Given the description of an element on the screen output the (x, y) to click on. 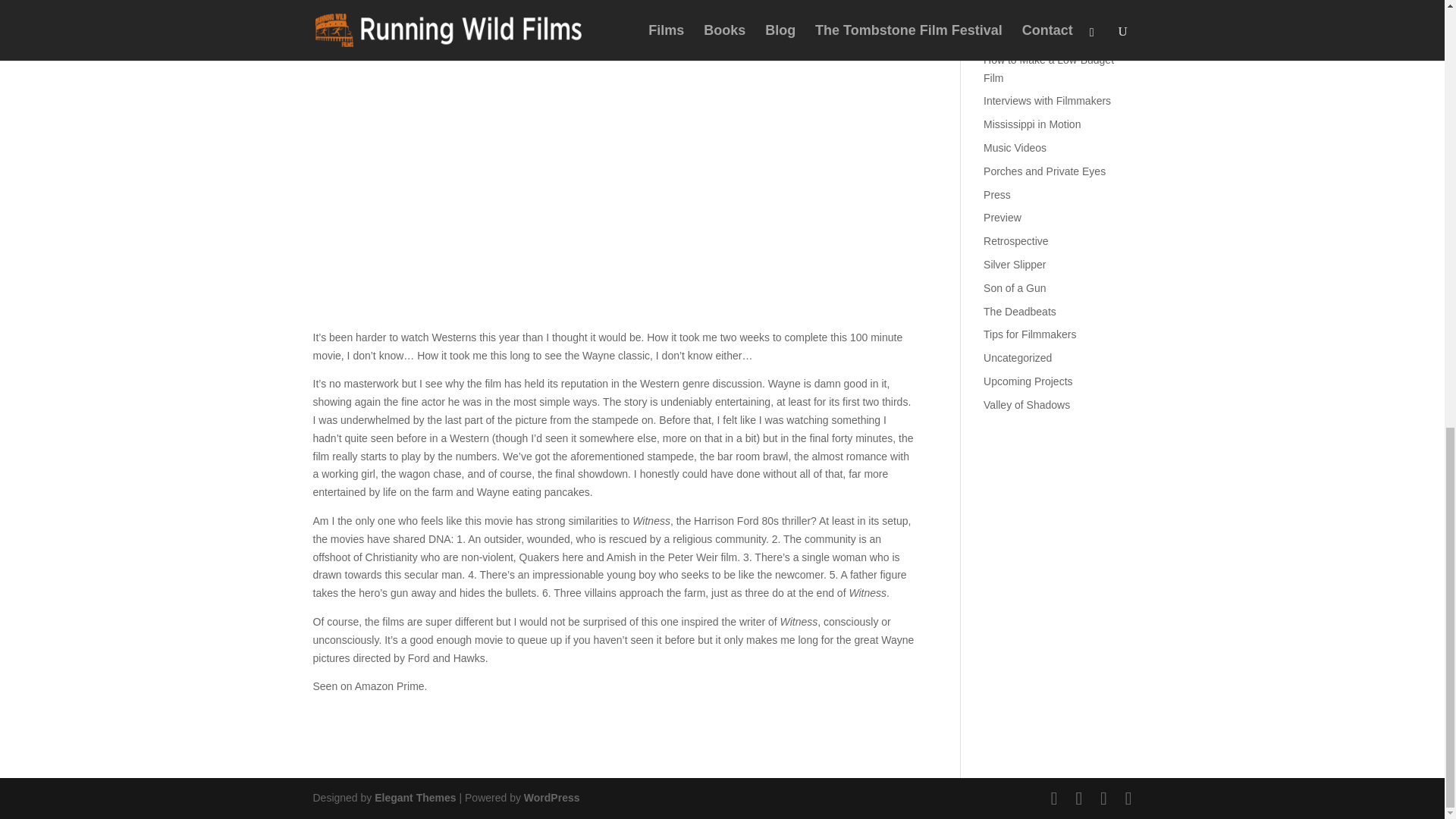
Mississippi in Motion (1032, 123)
Silver Slipper (1014, 264)
Retrospective (1016, 241)
Press (997, 194)
Current Projects (1021, 36)
Porches and Private Eyes (1044, 171)
How to Make a Low-Budget Film (1048, 69)
Cornbread Cosa Nostra (1040, 12)
Premium WordPress Themes (414, 797)
The Deadbeats (1020, 311)
Tips for Filmmakers (1029, 334)
Son of a Gun (1015, 287)
Music Videos (1015, 147)
Interviews with Filmmakers (1047, 101)
Preview (1003, 217)
